Given the description of an element on the screen output the (x, y) to click on. 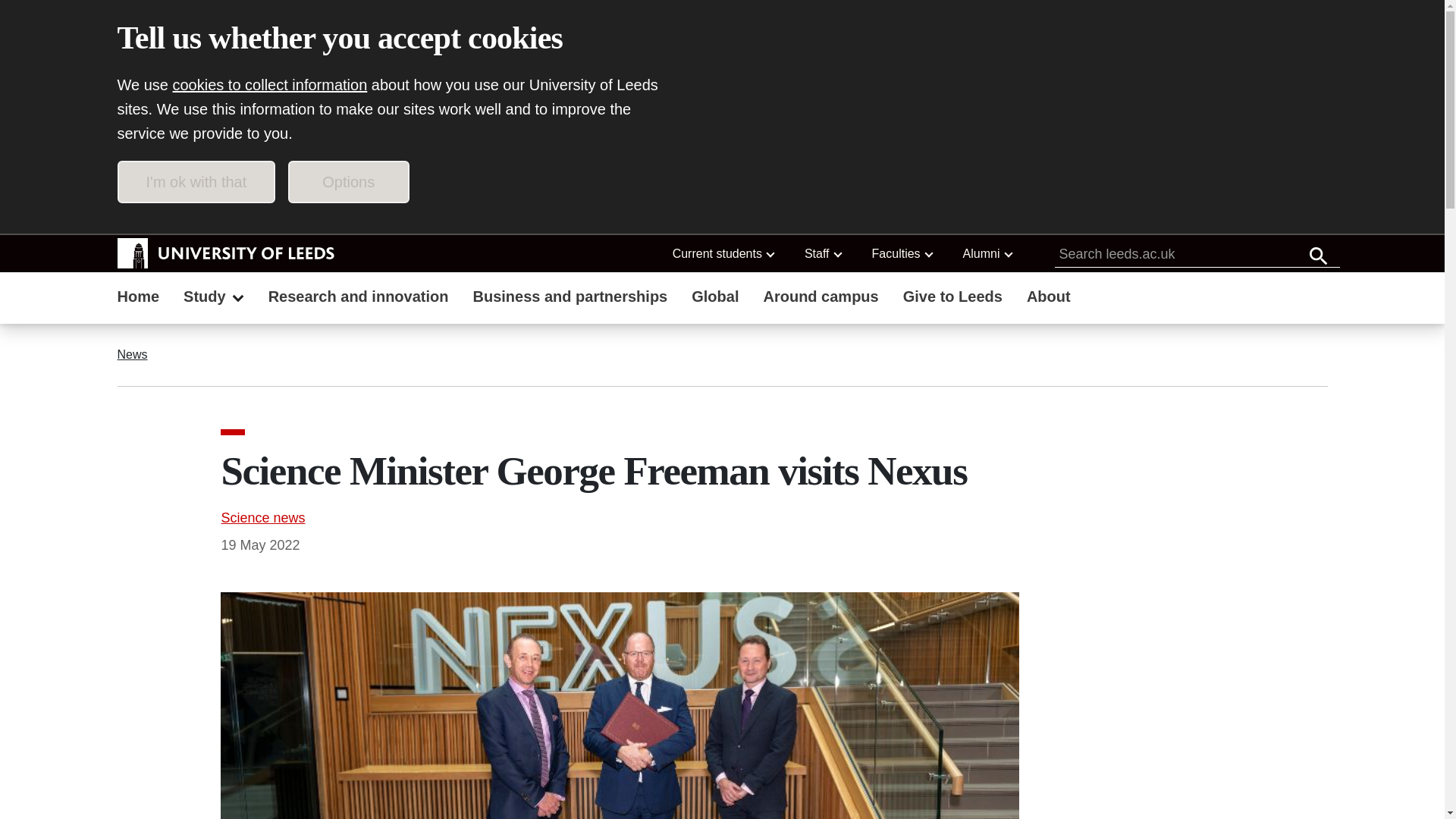
I'm ok with that (195, 181)
Options (348, 181)
cookies to collect information (270, 84)
Alumni (986, 253)
Staff (822, 253)
Business and partnerships (569, 297)
Skip to main content (202, 216)
Study (213, 297)
Global (715, 297)
Faculties (902, 253)
